Given the description of an element on the screen output the (x, y) to click on. 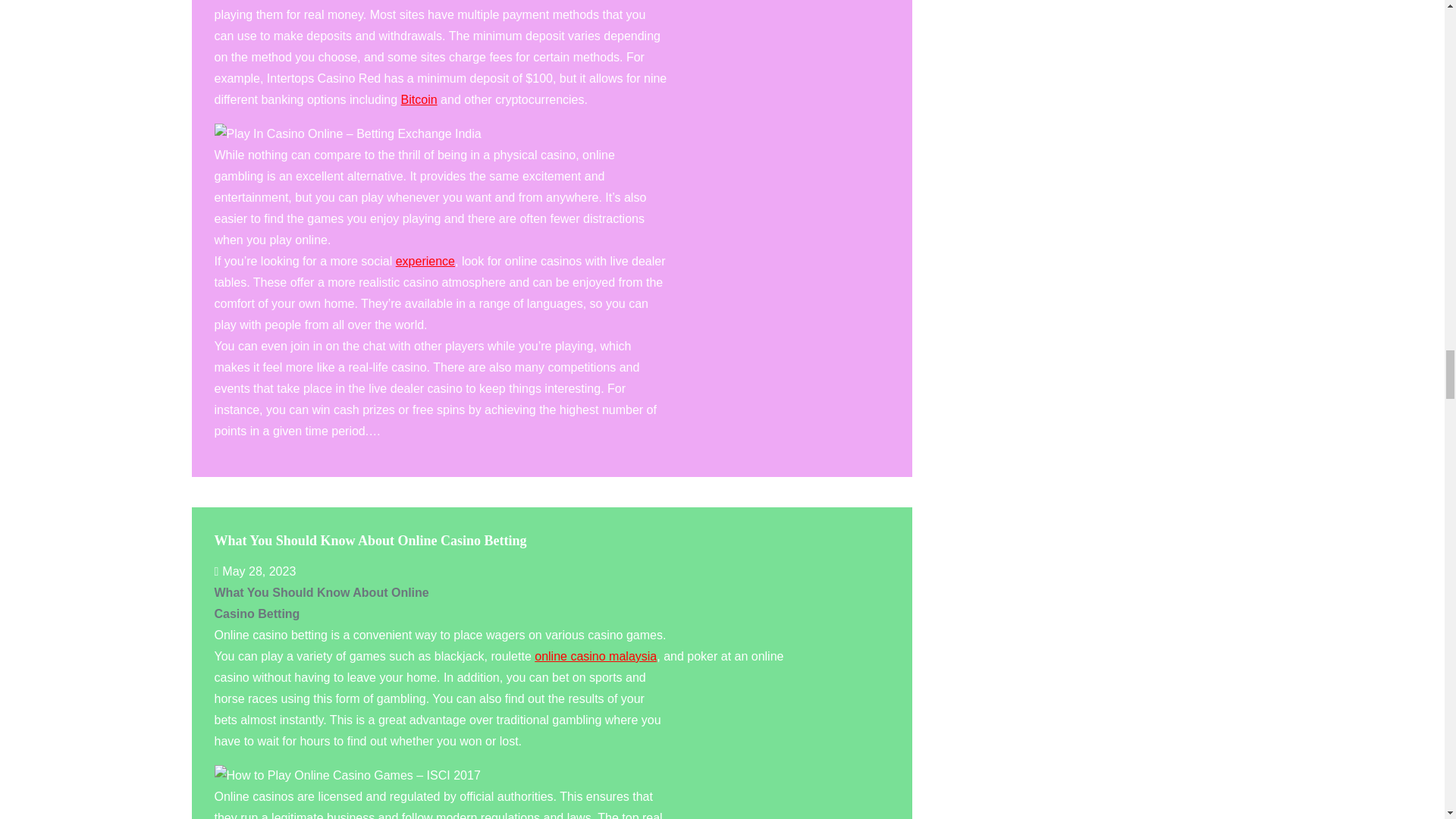
May 28, 2023 (254, 571)
experience (425, 260)
What You Should Know About Online Casino Betting (369, 540)
online casino malaysia (595, 656)
Bitcoin (419, 99)
